Given the description of an element on the screen output the (x, y) to click on. 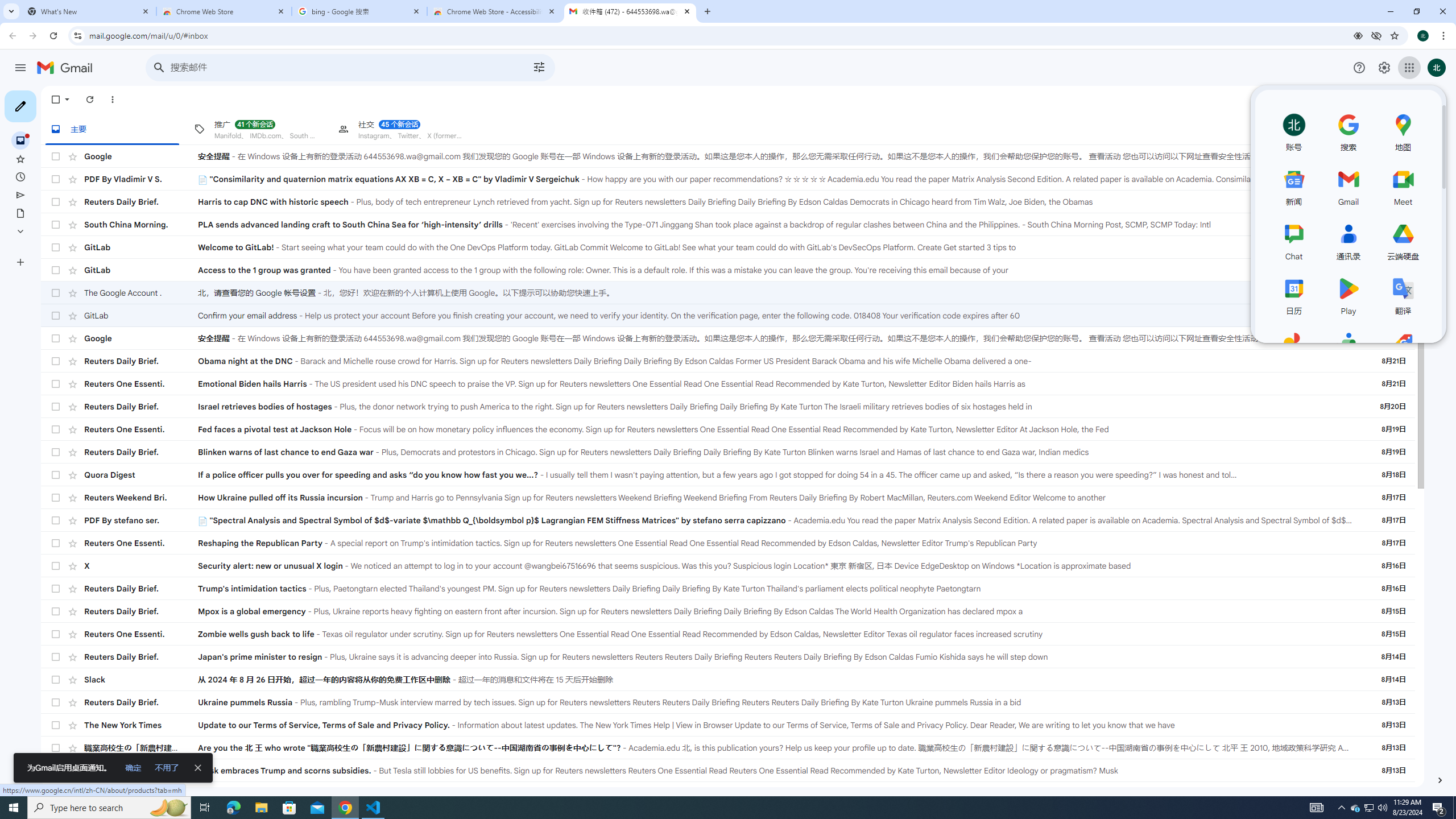
The Google Account . (141, 292)
Reuters One Essenti. (141, 770)
Third-party cookies blocked (1376, 35)
